Given the description of an element on the screen output the (x, y) to click on. 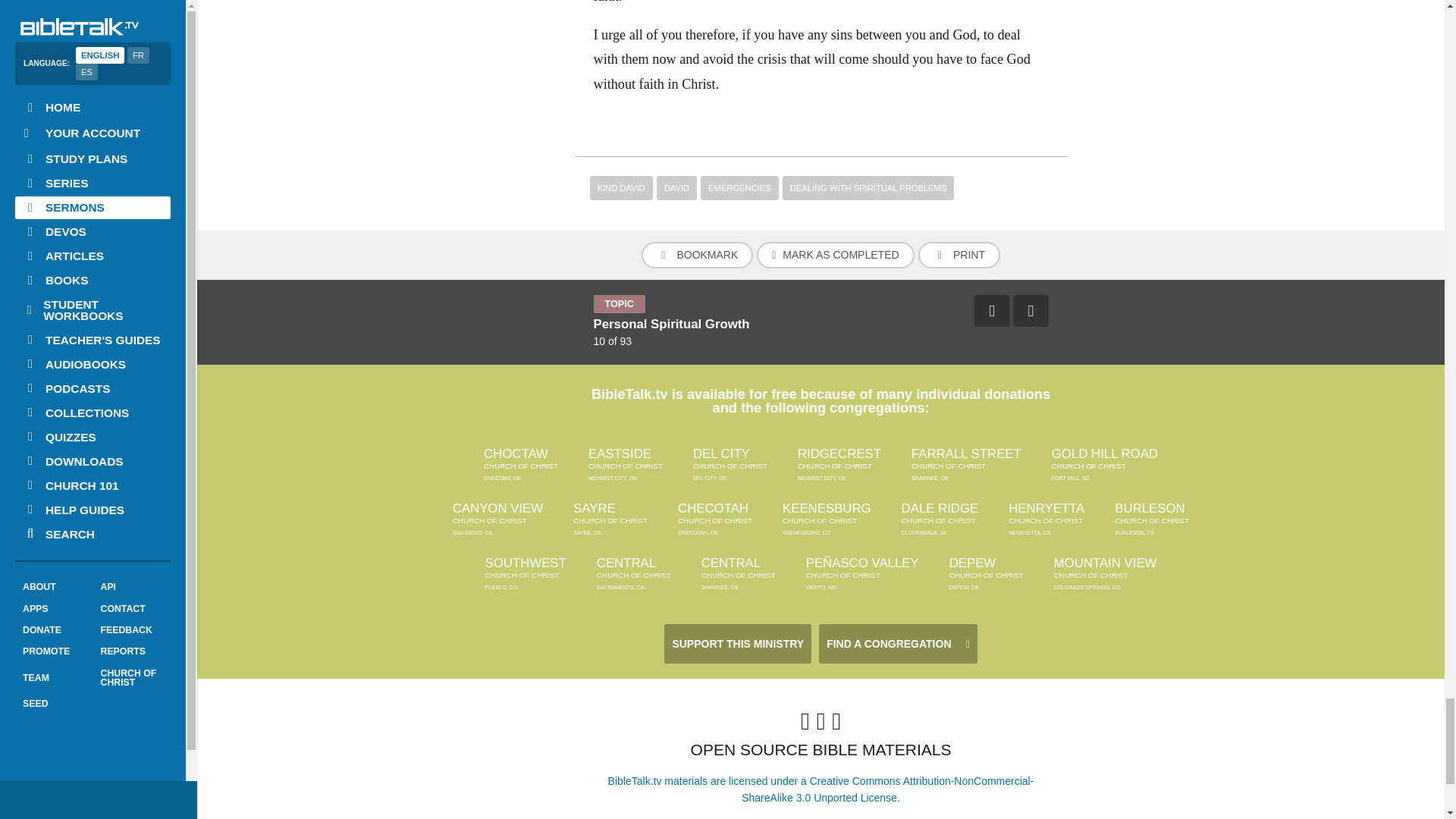
Go to Previous lesson (991, 310)
Bookmark (697, 254)
Go to Next lesson (1030, 310)
